Given the description of an element on the screen output the (x, y) to click on. 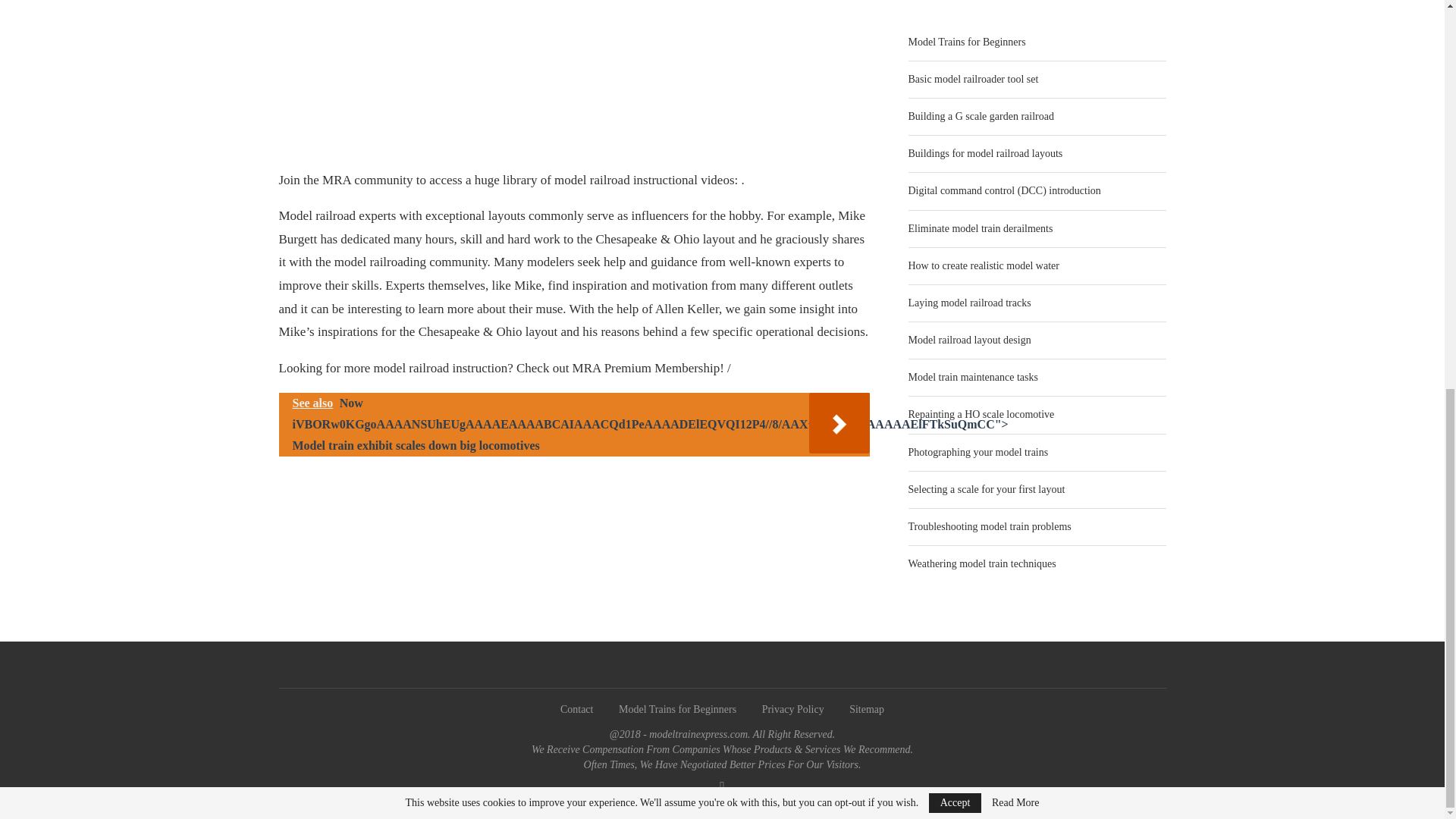
How to create realistic model water (983, 265)
Model railroad layout design (969, 339)
Photographing your model trains (978, 451)
Building a G scale garden railroad (981, 116)
Selecting a scale for your first layout (986, 489)
Weathering model train techniques (982, 563)
Buildings for model railroad layouts (985, 153)
Model train maintenance tasks (973, 377)
Model Trains for Beginners (677, 708)
Privacy Policy (792, 708)
Laying model railroad tracks (969, 302)
BACK TO TOP (721, 799)
Contact (577, 708)
Eliminate model train derailments (980, 228)
Model Trains for Beginners (967, 41)
